Given the description of an element on the screen output the (x, y) to click on. 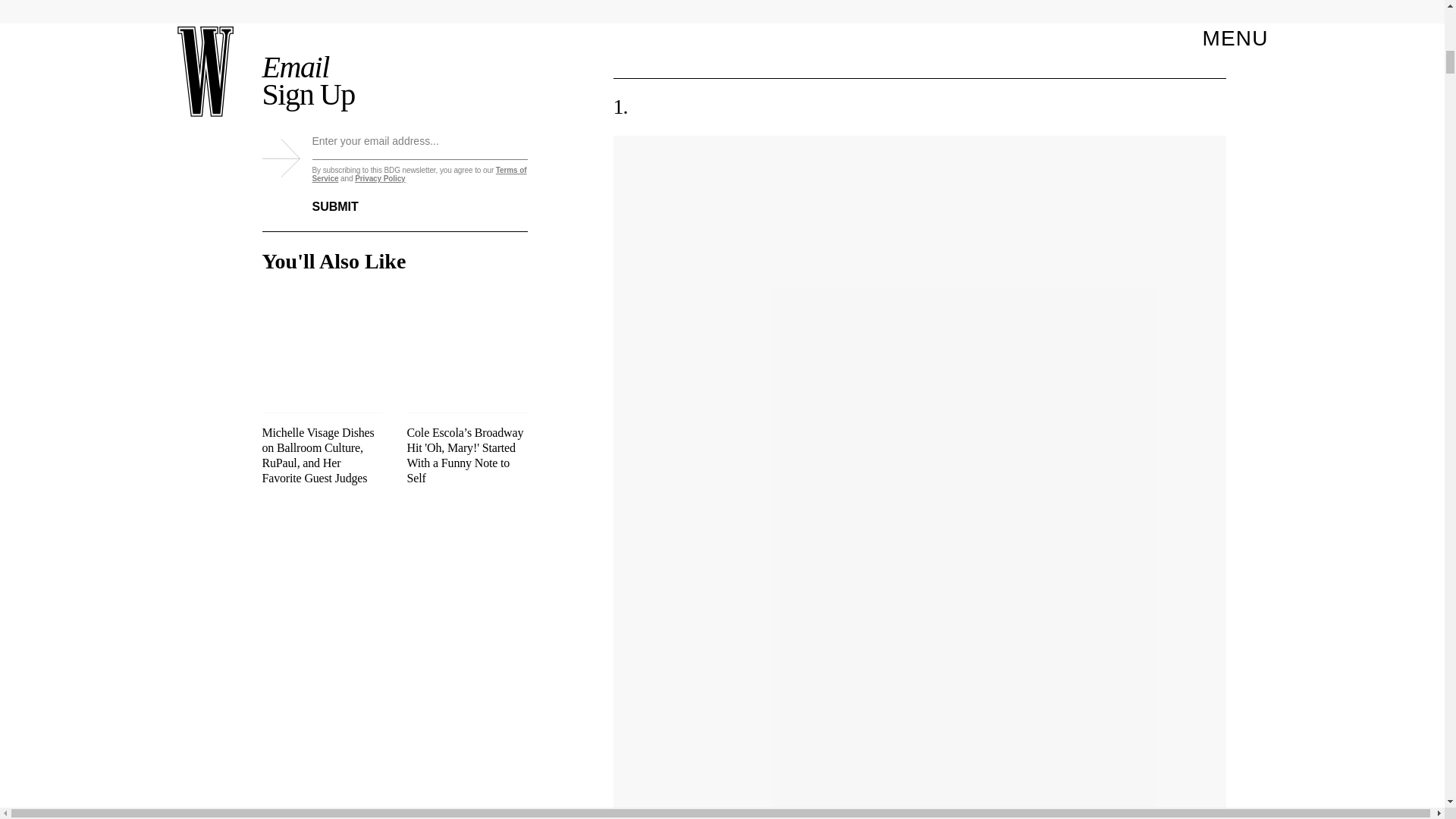
Terms of Service (420, 174)
SUBMIT (347, 197)
Privacy Policy (379, 178)
